Given the description of an element on the screen output the (x, y) to click on. 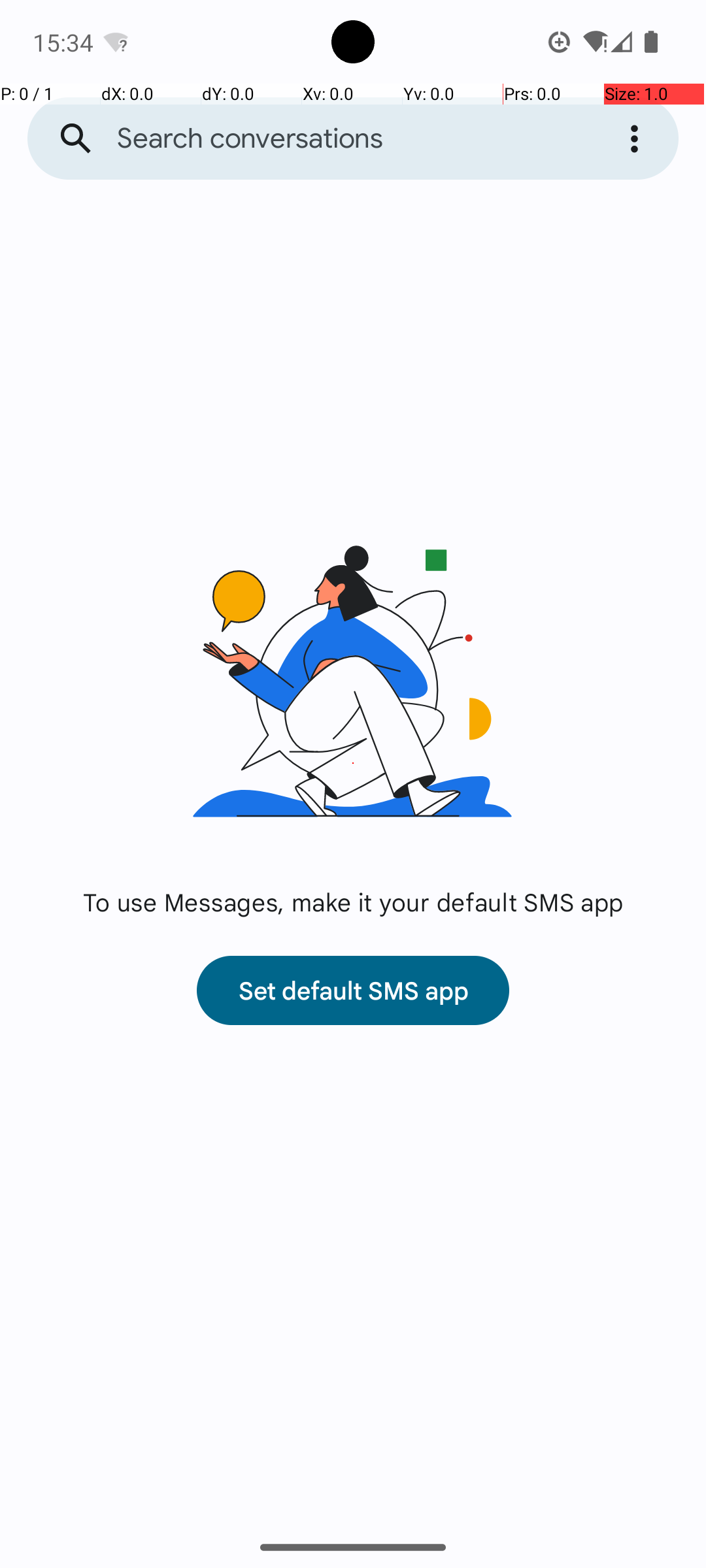
To use Messages, make it your default SMS app Element type: android.widget.TextView (353, 901)
Set default SMS app Element type: android.widget.Button (352, 990)
